Given the description of an element on the screen output the (x, y) to click on. 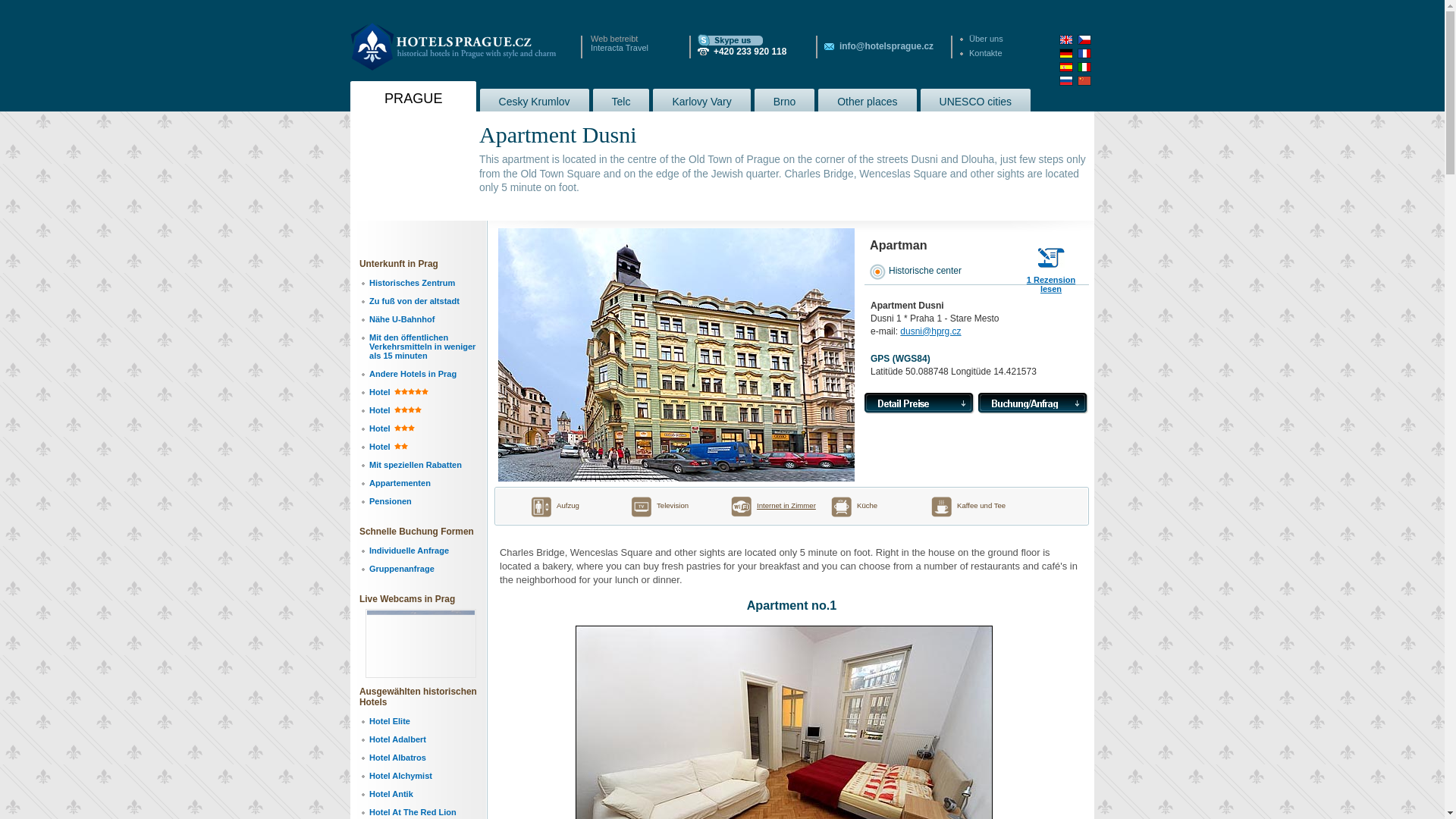
wi-fi, free of charge (786, 505)
Interacta Travel (619, 47)
UNESCO (975, 99)
PRAGUE (413, 96)
UNESCO cities (975, 99)
Television (668, 506)
Telc (620, 99)
Hotels Prague (453, 46)
Reviews of  (1050, 280)
Cesky Krumlov (534, 99)
